Given the description of an element on the screen output the (x, y) to click on. 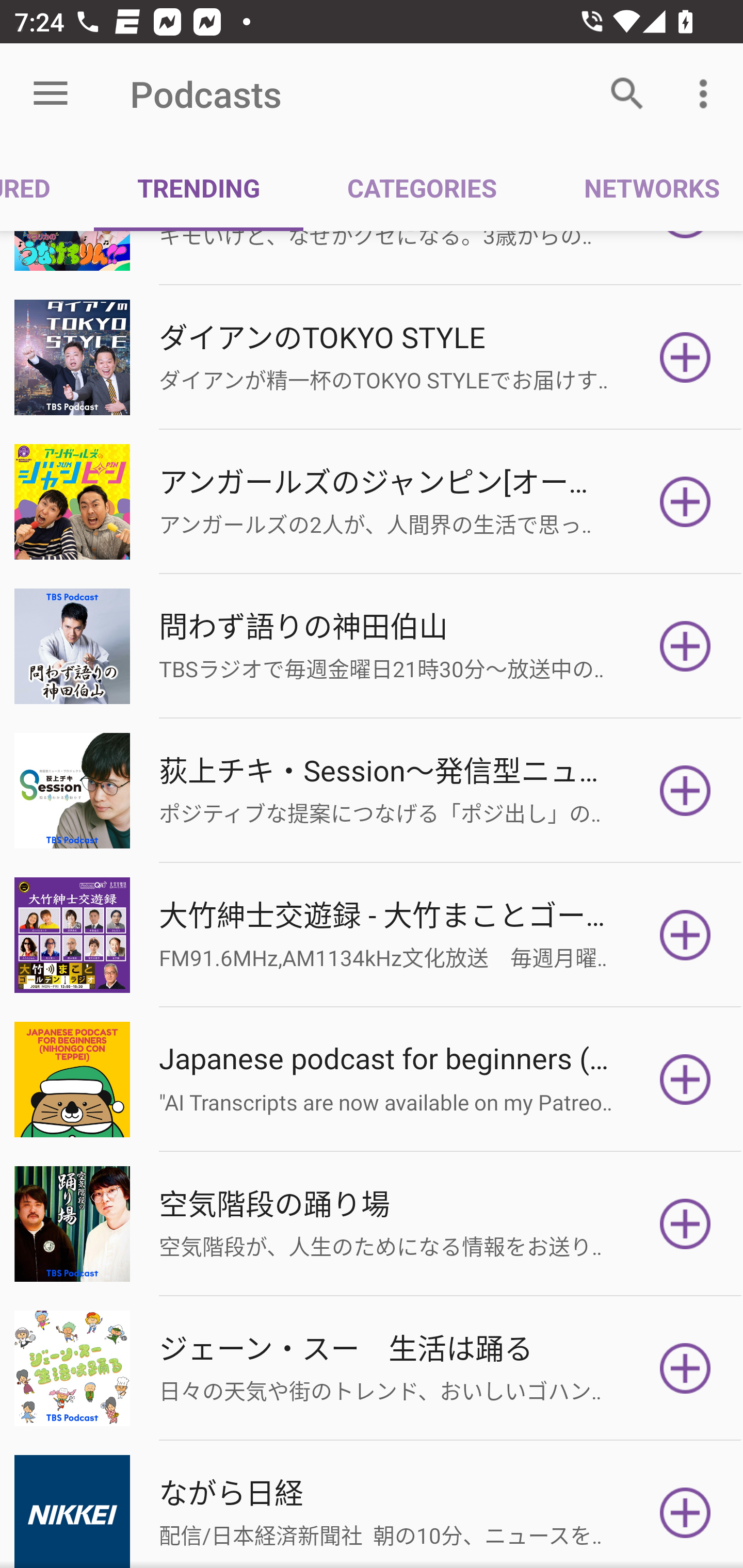
Open menu (50, 93)
Search (626, 93)
More options (706, 93)
TRENDING (198, 187)
CATEGORIES (421, 187)
NETWORKS (641, 187)
Subscribe (685, 357)
Subscribe (685, 501)
Subscribe (685, 646)
Subscribe (685, 790)
Subscribe (685, 935)
Subscribe (685, 1079)
Subscribe (685, 1223)
Subscribe (685, 1368)
Subscribe (685, 1511)
